Given the description of an element on the screen output the (x, y) to click on. 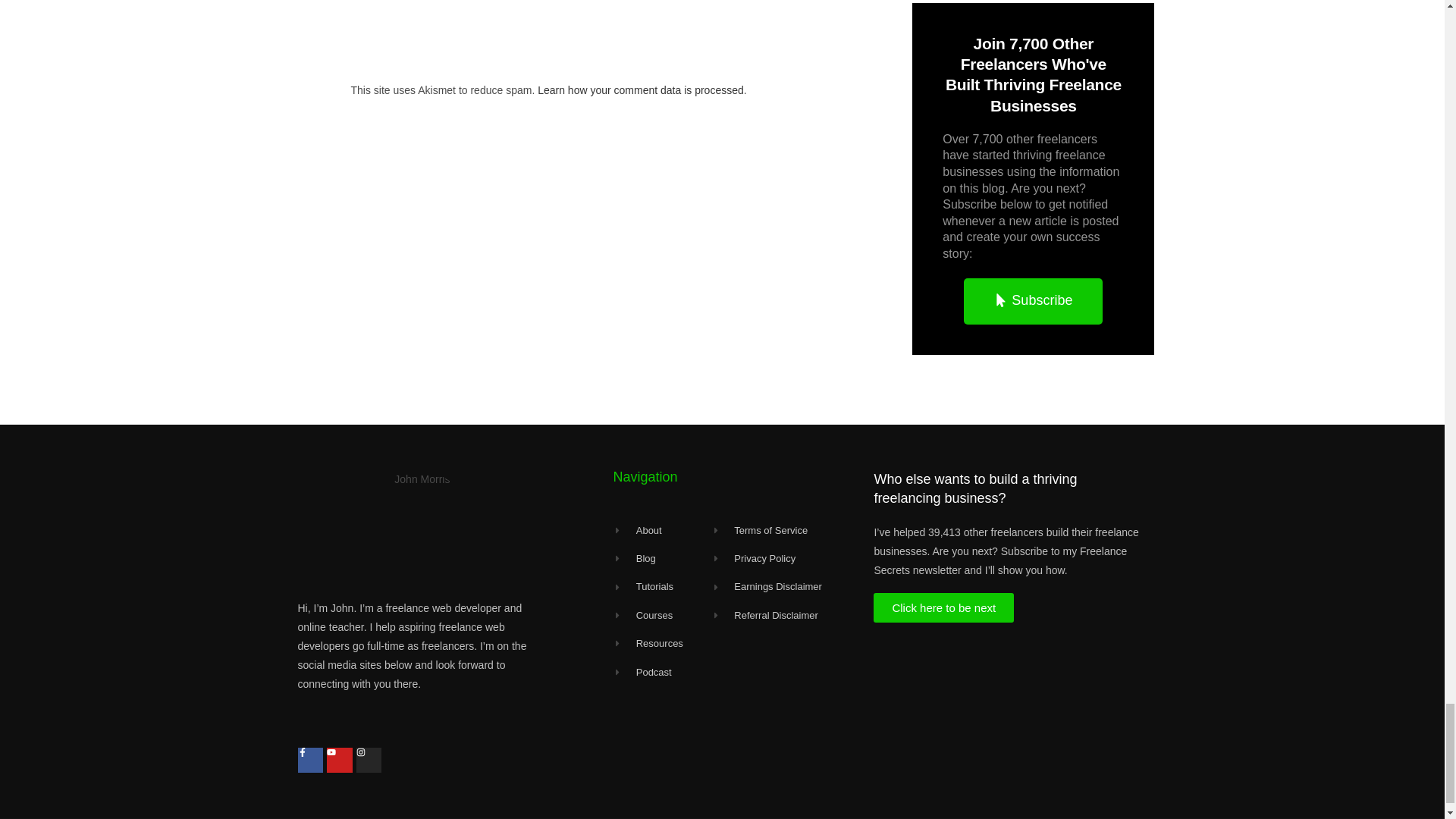
Comment Form (600, 29)
